Given the description of an element on the screen output the (x, y) to click on. 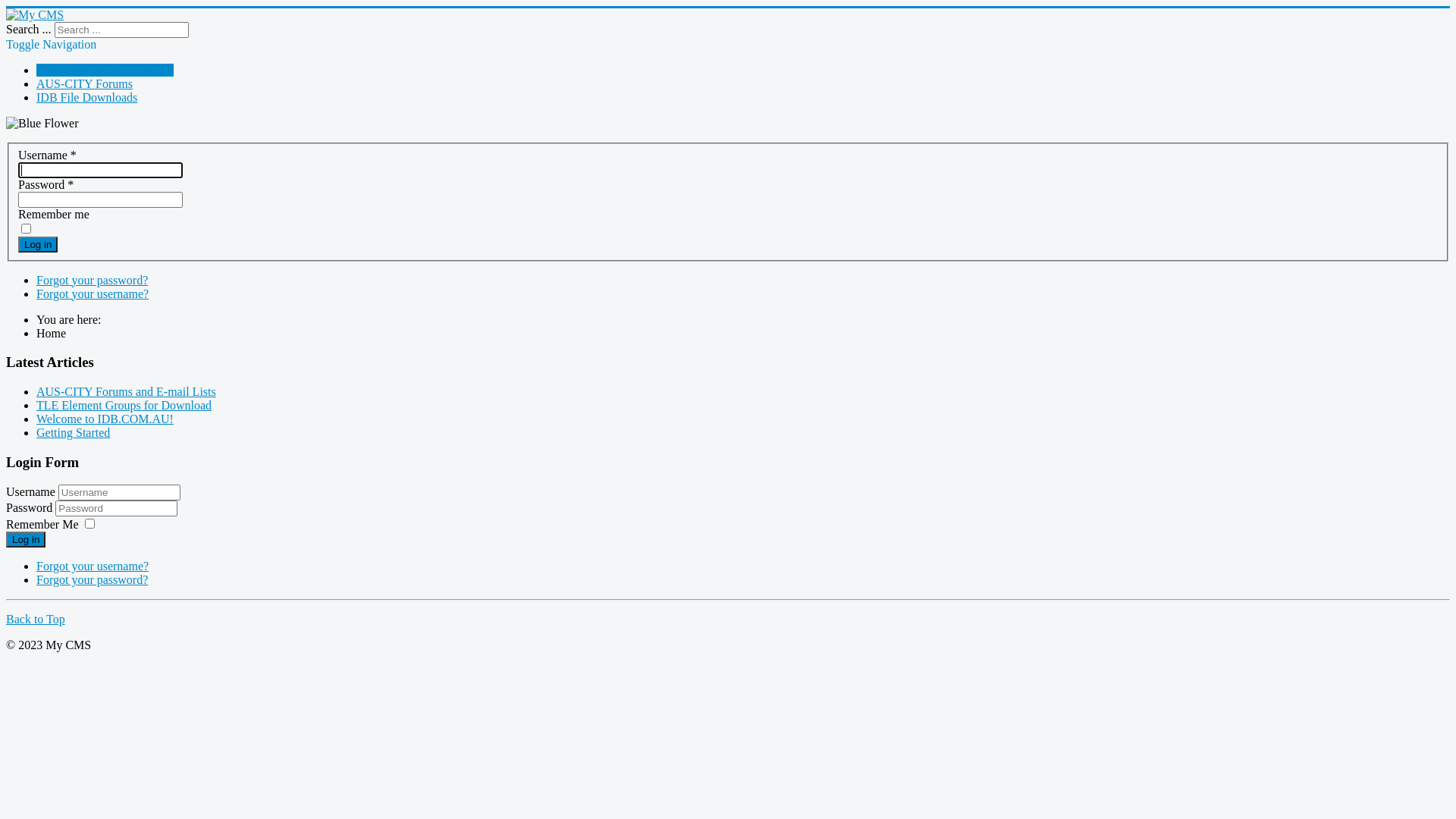
Welcome to IDB.COM.AU! Element type: text (104, 69)
Forgot your username? Element type: text (92, 565)
Forgot your username? Element type: text (92, 293)
Toggle Navigation Element type: text (51, 43)
Getting Started Element type: text (72, 432)
TLE Element Groups for Download Element type: text (123, 404)
Welcome to IDB.COM.AU! Element type: text (104, 418)
Log in Element type: text (25, 539)
Log in Element type: text (37, 244)
AUS-CITY Forums Element type: text (84, 83)
IDB File Downloads Element type: text (86, 97)
AUS-CITY Forums and E-mail Lists Element type: text (126, 391)
Forgot your password? Element type: text (91, 579)
Forgot your password? Element type: text (91, 279)
Back to Top Element type: text (35, 618)
